Given the description of an element on the screen output the (x, y) to click on. 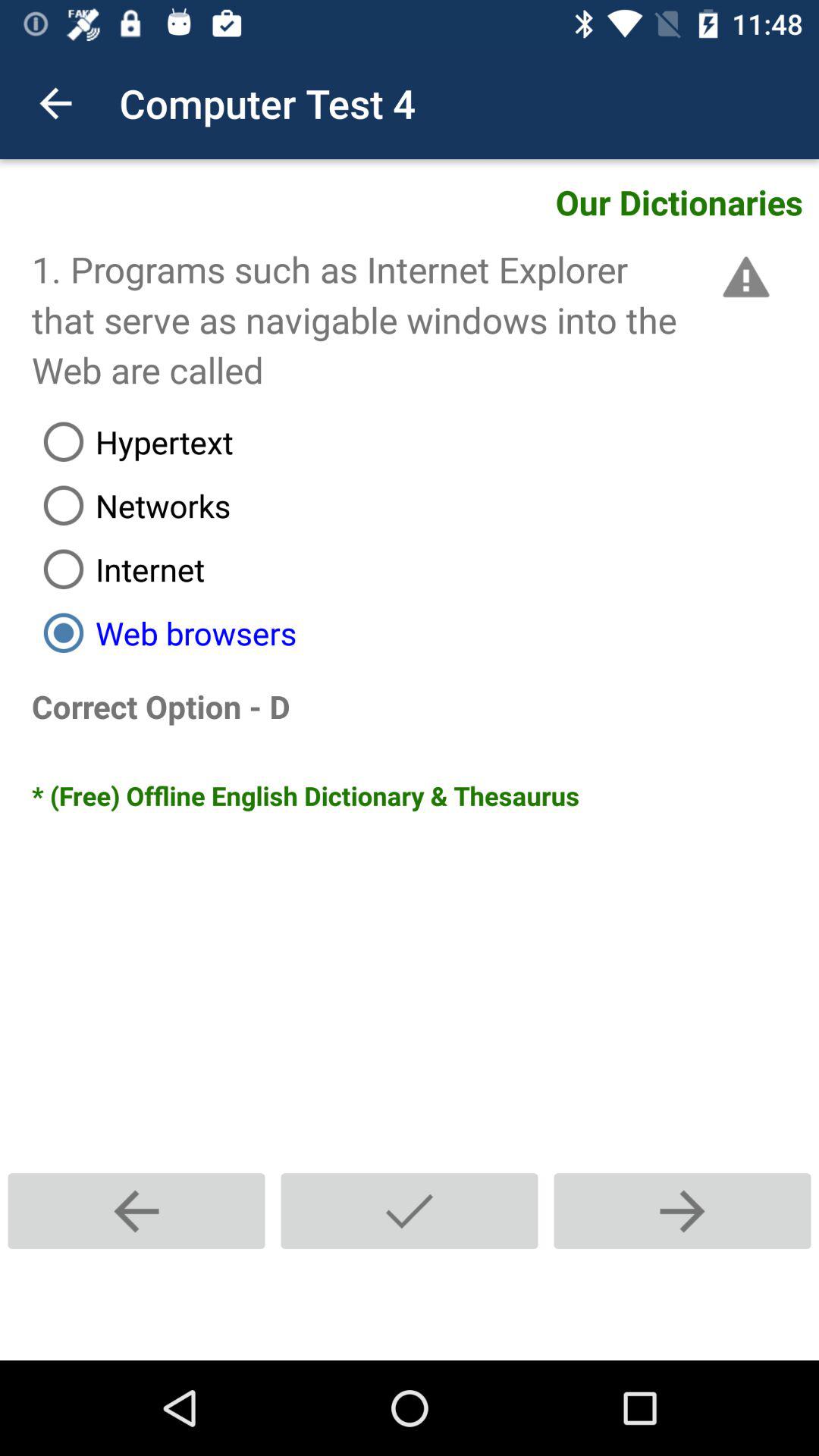
confirm selection (409, 1210)
